Given the description of an element on the screen output the (x, y) to click on. 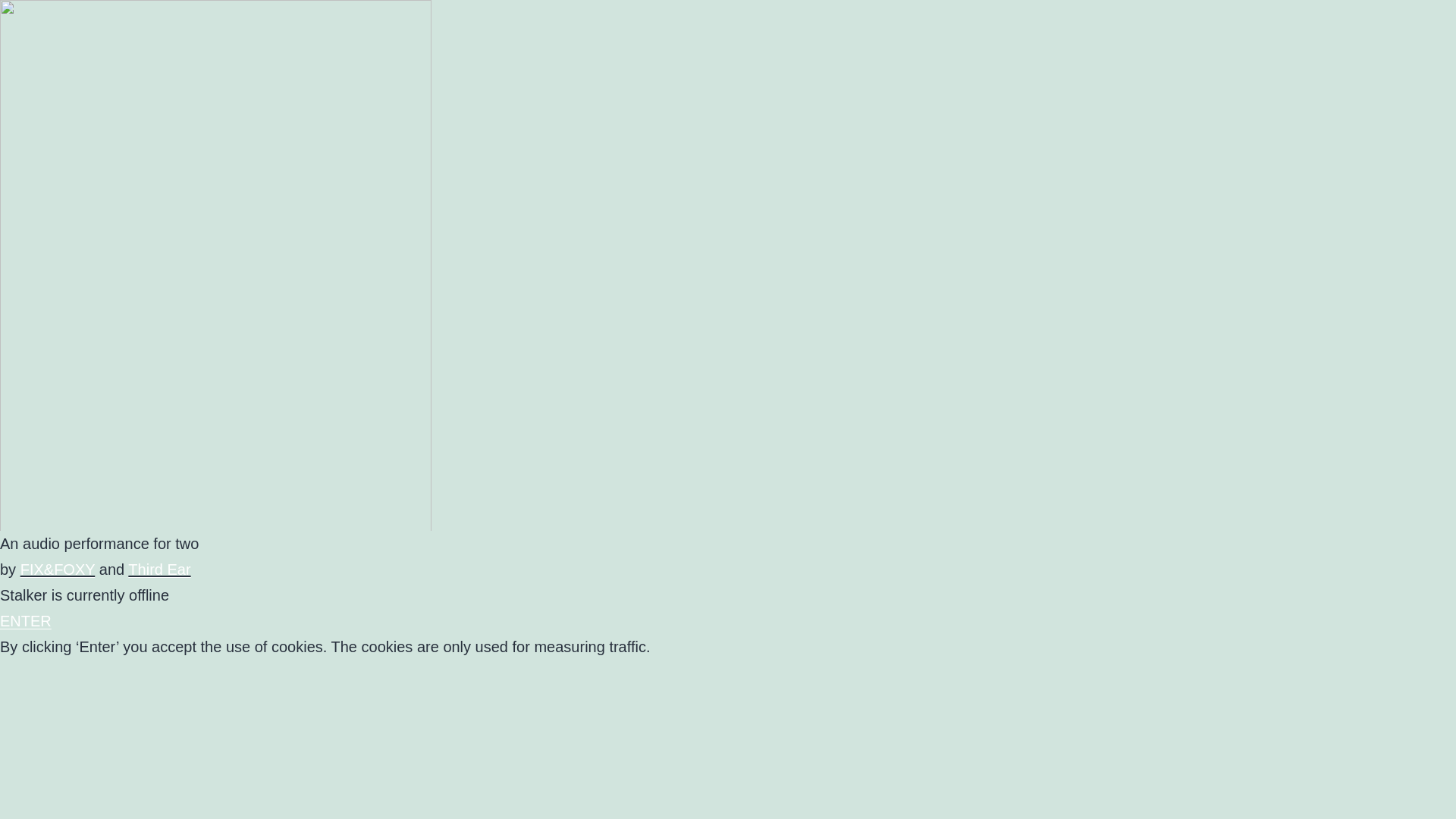
Third Ear Element type: text (159, 569)
ENTER Element type: text (25, 620)
FIX&FOXY Element type: text (57, 569)
